Given the description of an element on the screen output the (x, y) to click on. 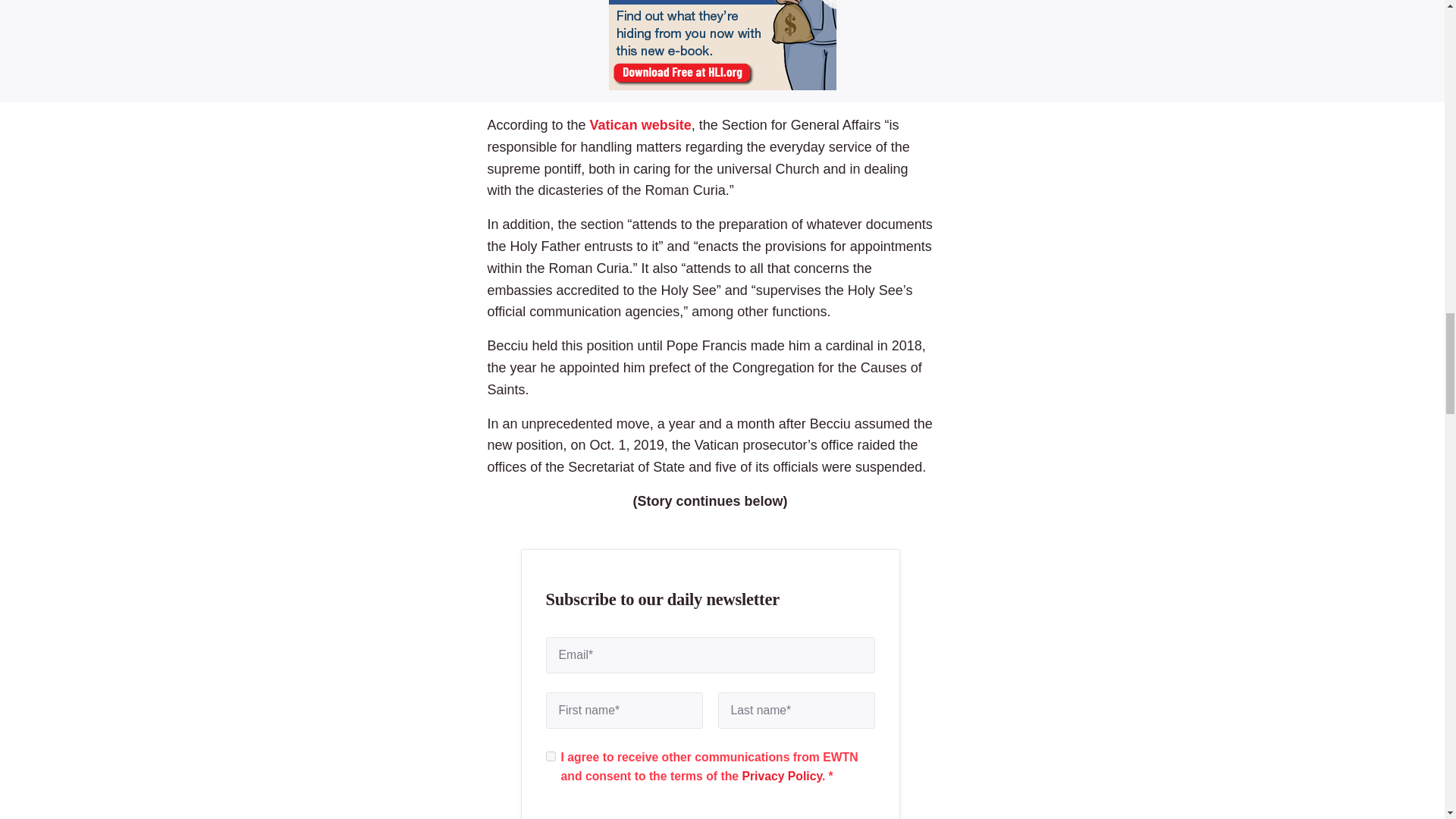
3rd party ad content (722, 46)
true (551, 756)
